Given the description of an element on the screen output the (x, y) to click on. 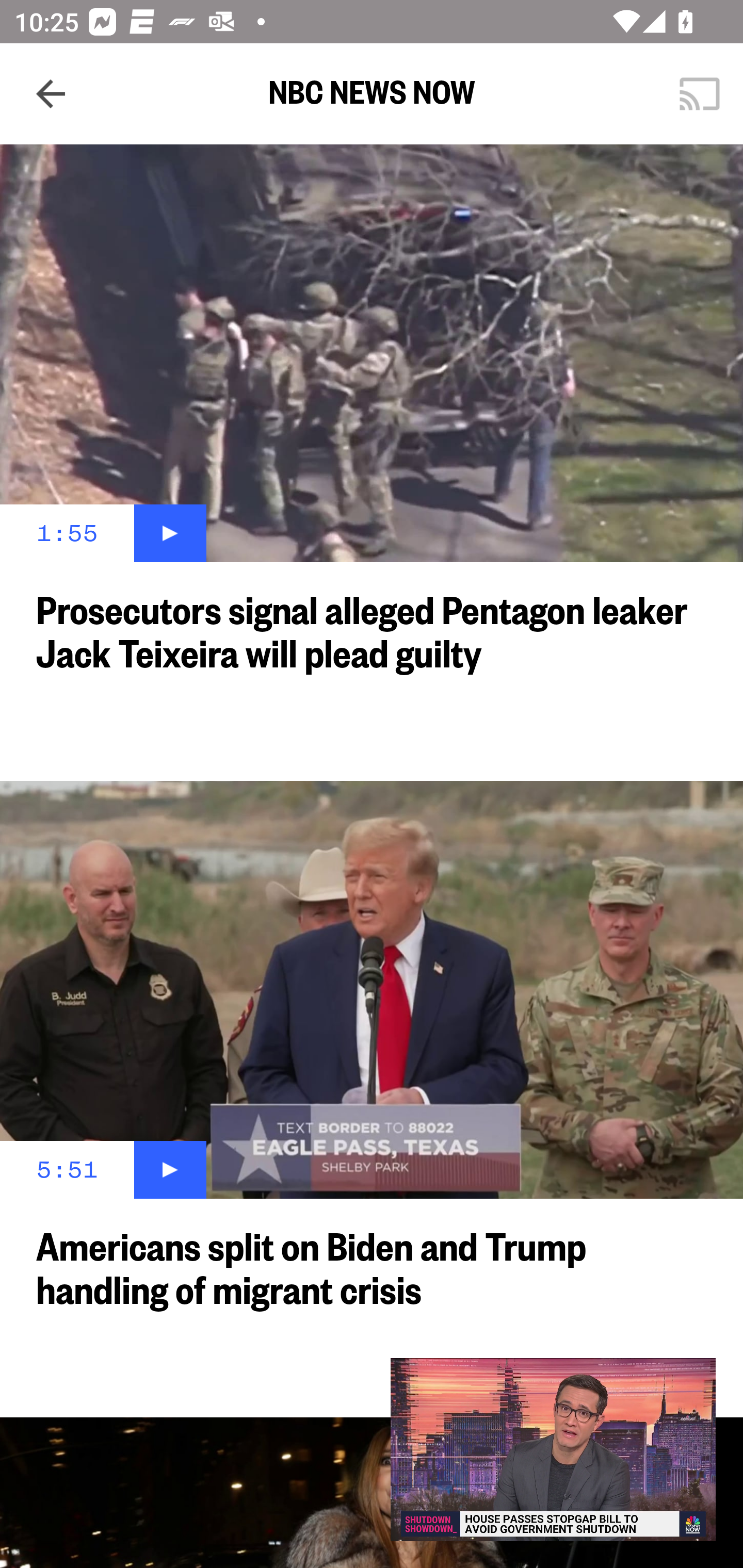
Navigate up (50, 93)
Cast. Disconnected (699, 93)
